Given the description of an element on the screen output the (x, y) to click on. 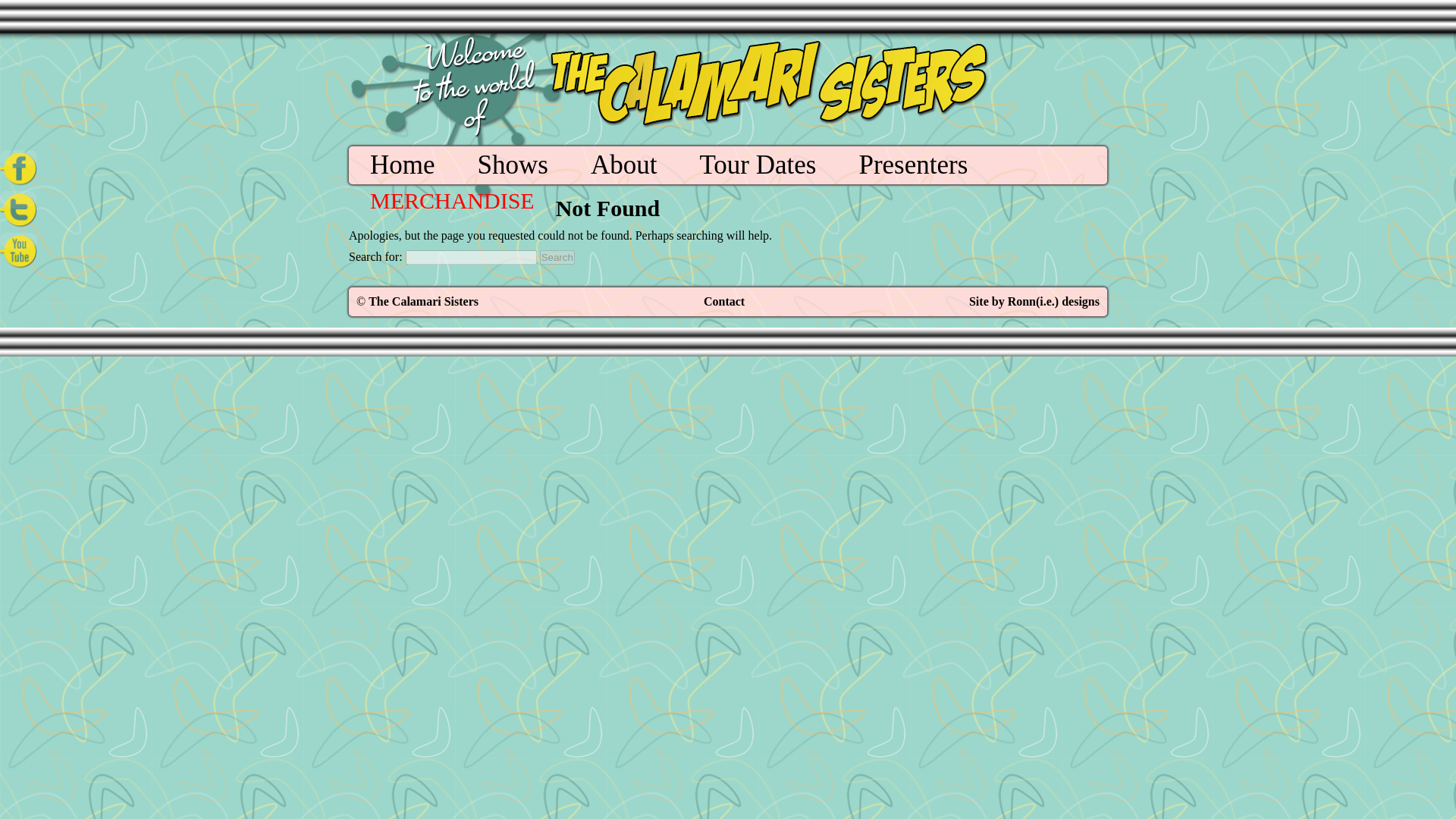
Contact (723, 300)
About (624, 164)
The Calamari Sisters (423, 300)
The Calamari Sisters (423, 300)
MERCHANDISE (451, 200)
Home (402, 164)
Presenters (913, 164)
Tour Dates (756, 164)
Search (557, 257)
Search (557, 257)
Shows (513, 164)
